Given the description of an element on the screen output the (x, y) to click on. 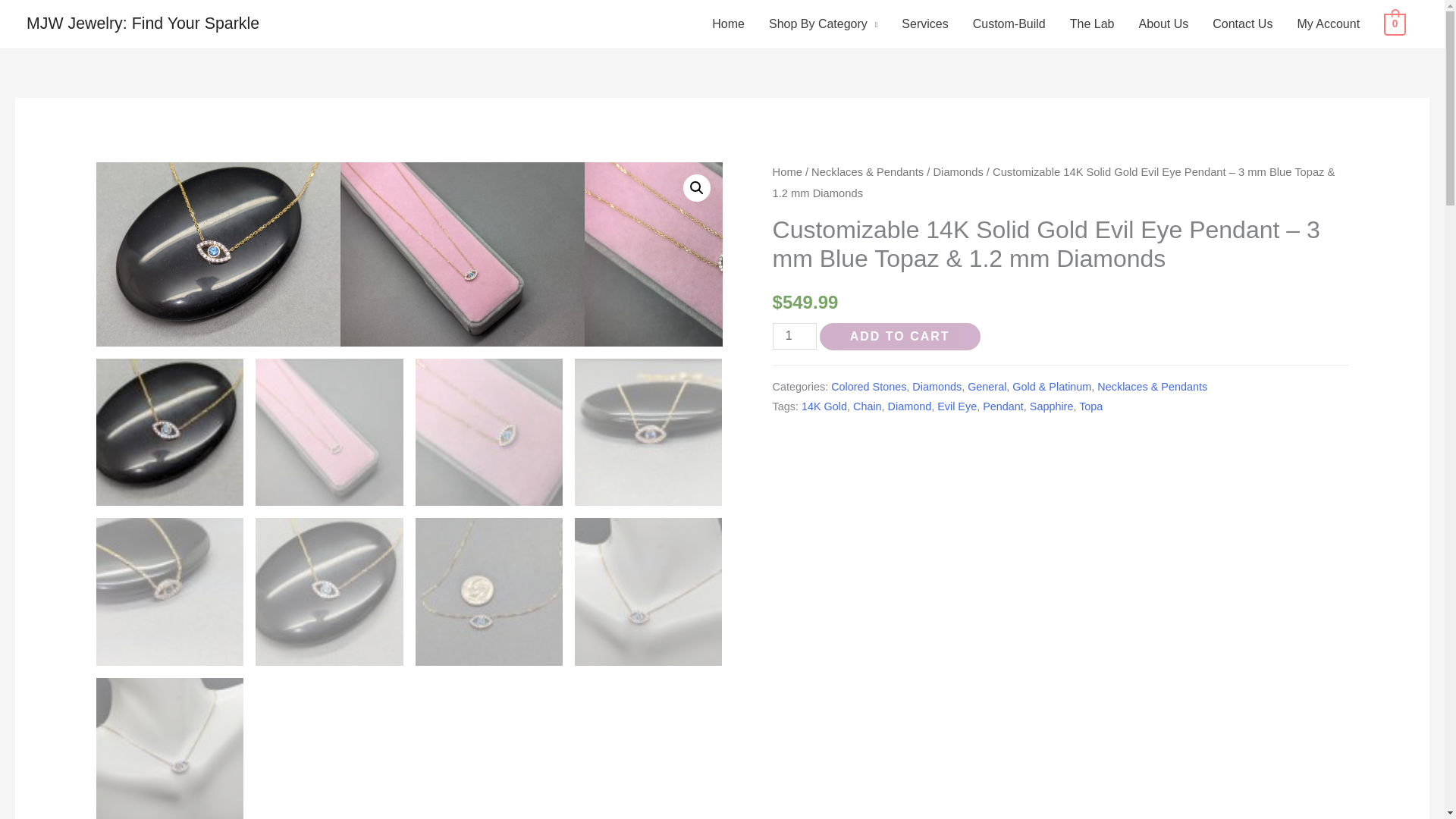
MJW Jewelry: Find Your Sparkle (142, 23)
Custom-Build (1009, 24)
Home (728, 24)
14K Gold (824, 406)
Services (924, 24)
About Us (1162, 24)
General (987, 386)
View your shopping cart (1395, 23)
My Account (1327, 24)
Home (787, 172)
